Given the description of an element on the screen output the (x, y) to click on. 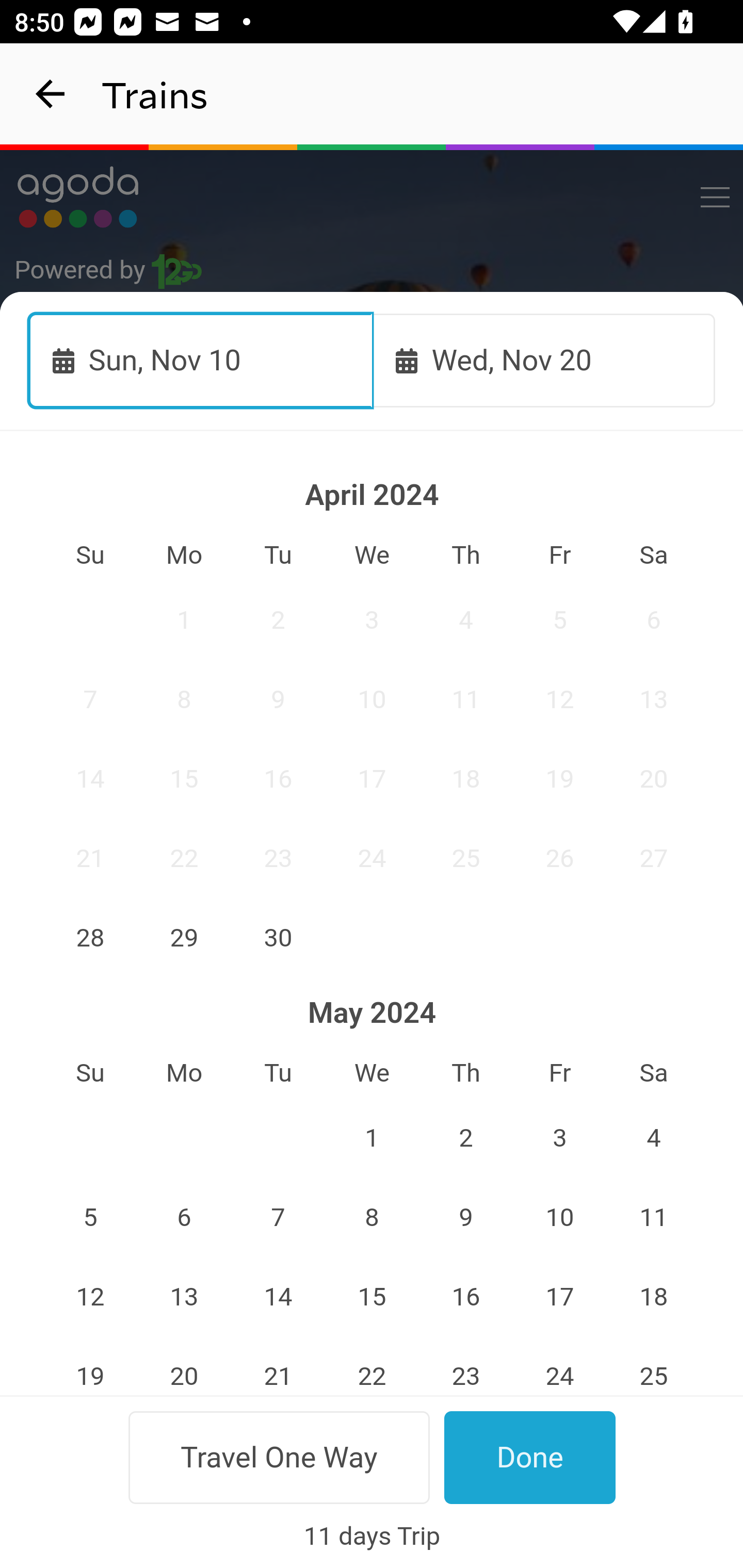
navigation_button (50, 93)
Sun, Nov 10 (200, 359)
Wed, Nov 20 (544, 359)
1 (184, 620)
2 (278, 620)
3 (372, 620)
4 (465, 620)
5 (559, 620)
6 (654, 620)
7 (90, 699)
8 (184, 699)
9 (278, 699)
10 (372, 699)
11 (465, 699)
12 (559, 699)
13 (654, 699)
14 (90, 779)
15 (184, 779)
16 (278, 779)
17 (372, 779)
18 (465, 779)
19 (559, 779)
20 (654, 779)
21 (90, 858)
22 (184, 858)
23 (278, 858)
24 (372, 858)
25 (465, 858)
26 (559, 858)
27 (654, 858)
28 (90, 937)
29 (184, 937)
30 (278, 937)
1 (372, 1138)
2 (465, 1138)
3 (559, 1138)
4 (654, 1138)
5 (90, 1218)
6 (184, 1218)
7 (278, 1218)
8 (372, 1218)
9 (465, 1218)
10 (559, 1218)
11 (654, 1218)
12 (90, 1296)
13 (184, 1296)
14 (278, 1296)
15 (372, 1296)
16 (465, 1296)
17 (559, 1296)
18 (654, 1296)
19 (90, 1365)
20 (184, 1365)
21 (278, 1365)
22 (372, 1365)
23 (465, 1365)
24 (559, 1365)
25 (654, 1365)
Travel One Way (278, 1457)
Done (530, 1457)
